Given the description of an element on the screen output the (x, y) to click on. 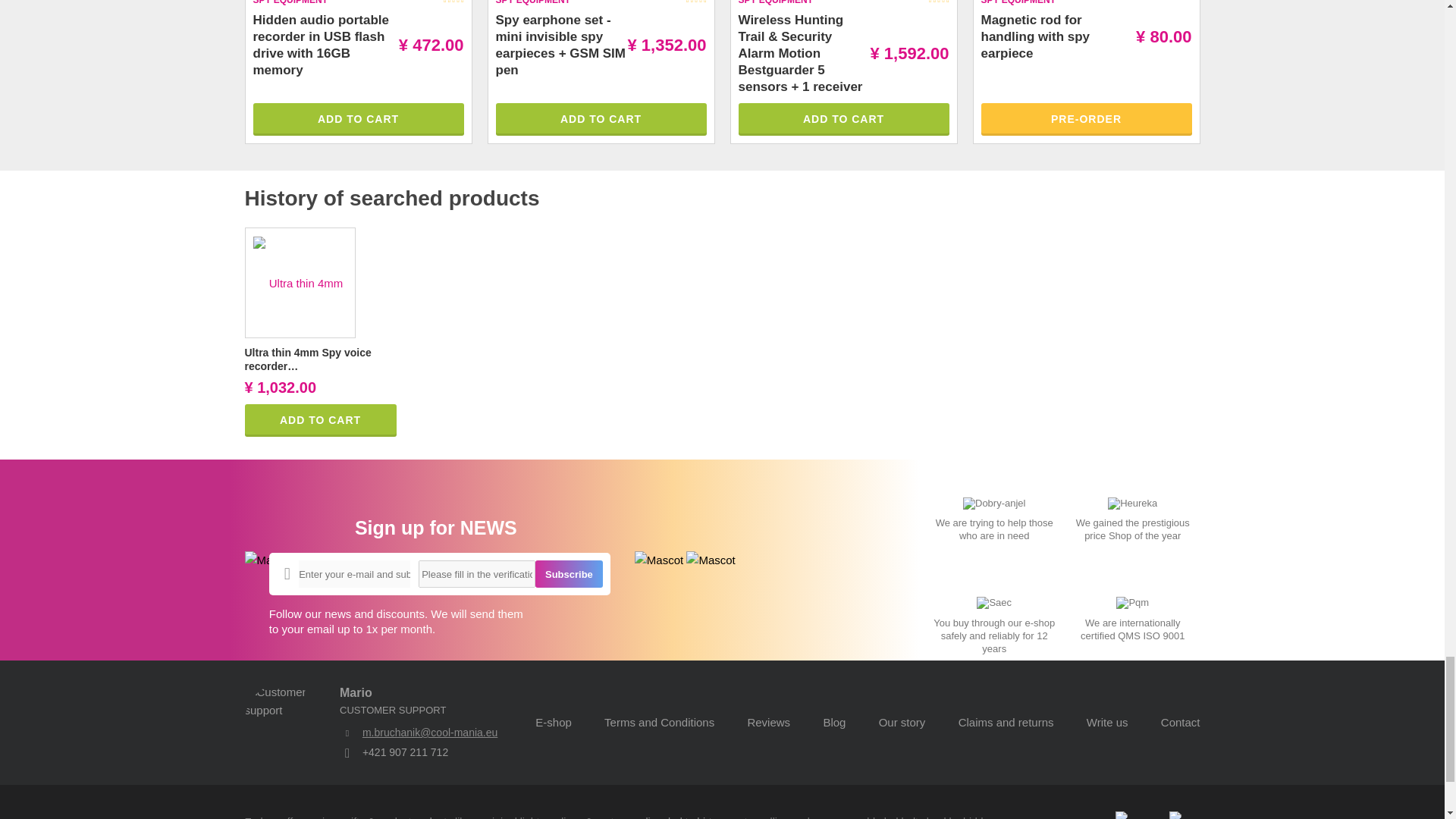
Subscribe (568, 574)
